Given the description of an element on the screen output the (x, y) to click on. 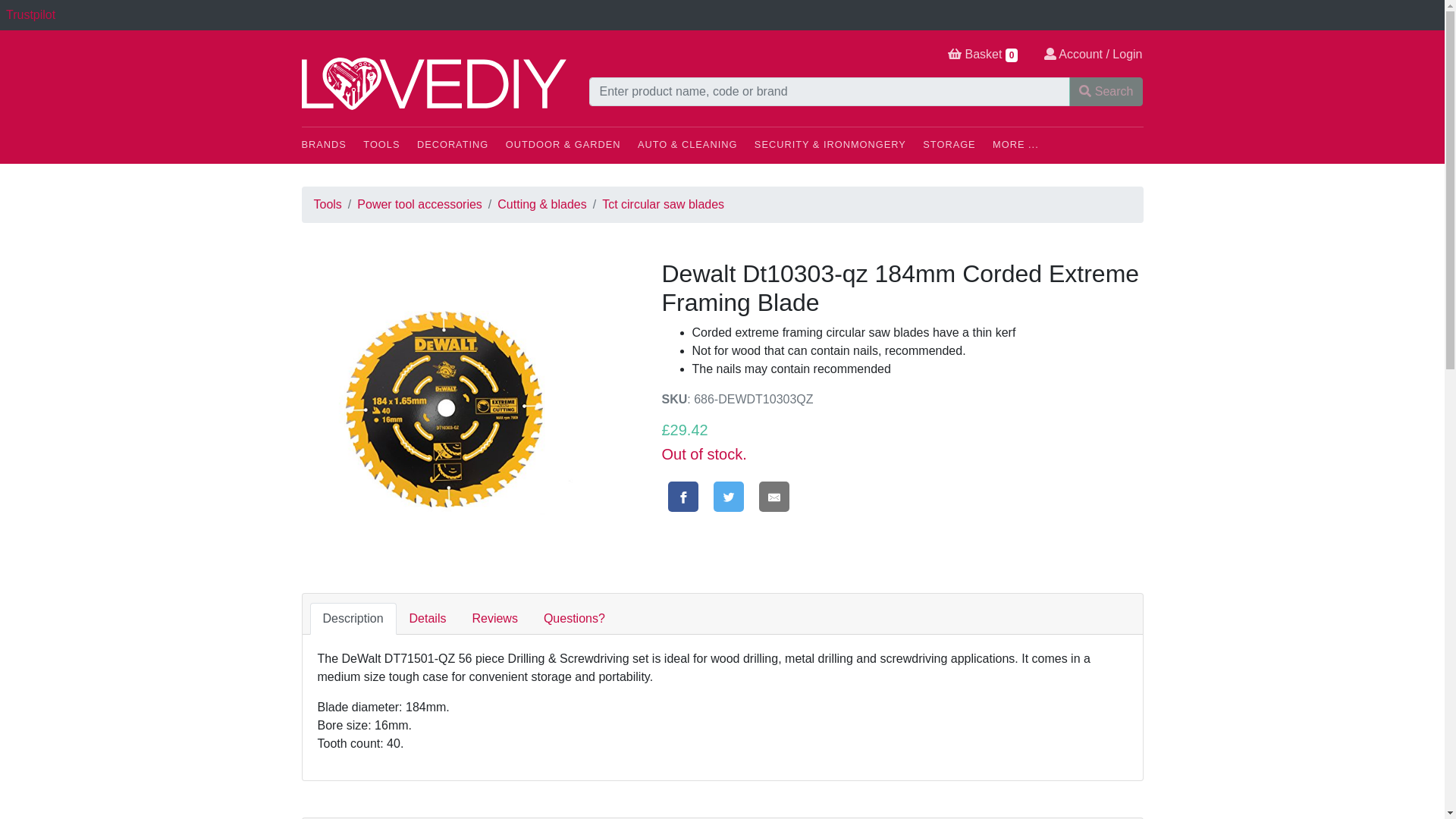
LoveDIY - The heart of home improvements (434, 83)
Trustpilot (30, 14)
BRANDS (330, 146)
Basket 0 (982, 54)
Search (1105, 91)
TOOLS (387, 146)
